Given the description of an element on the screen output the (x, y) to click on. 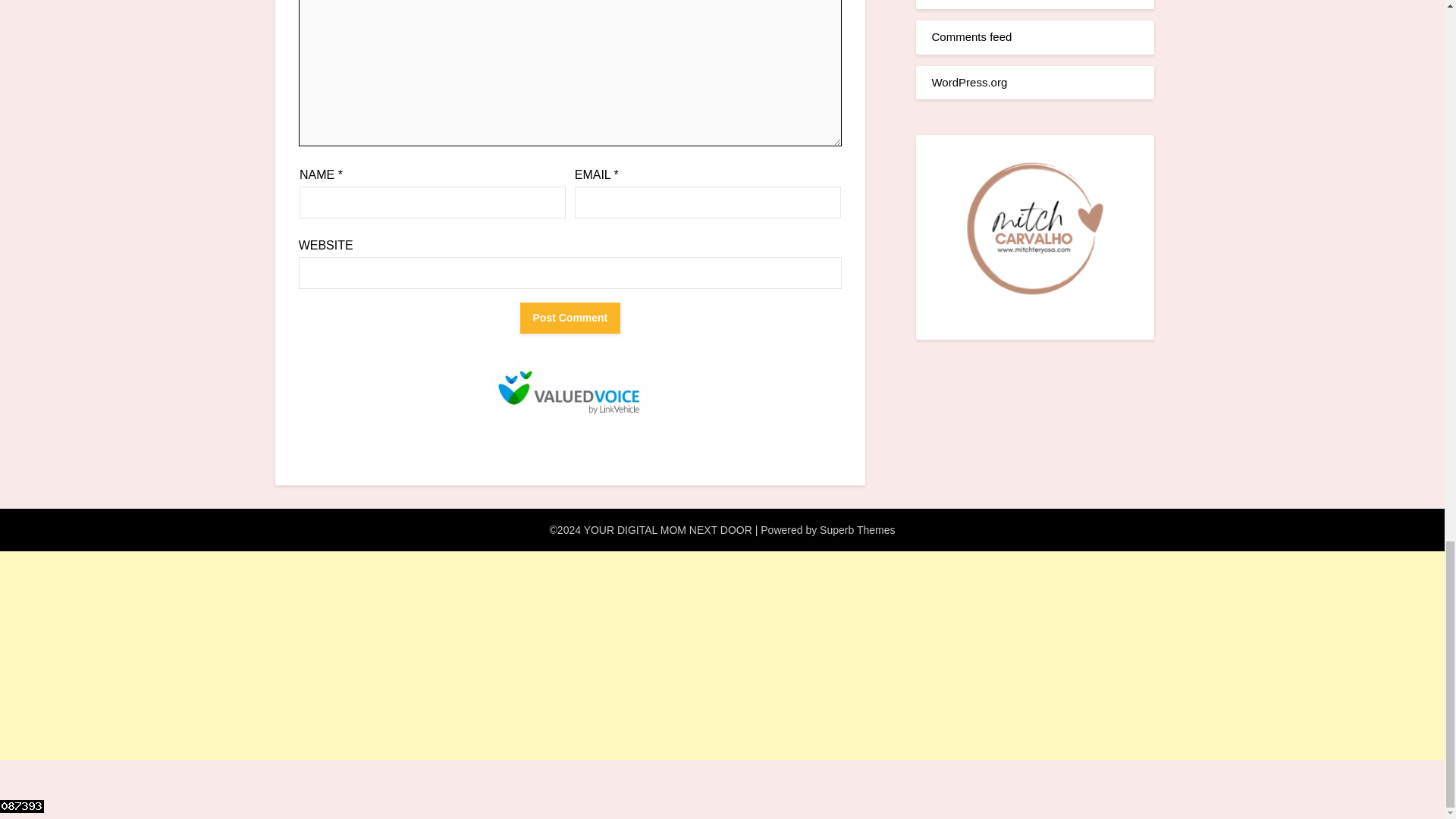
Post Comment (570, 317)
Post Comment (570, 317)
Comments feed (971, 36)
